Given the description of an element on the screen output the (x, y) to click on. 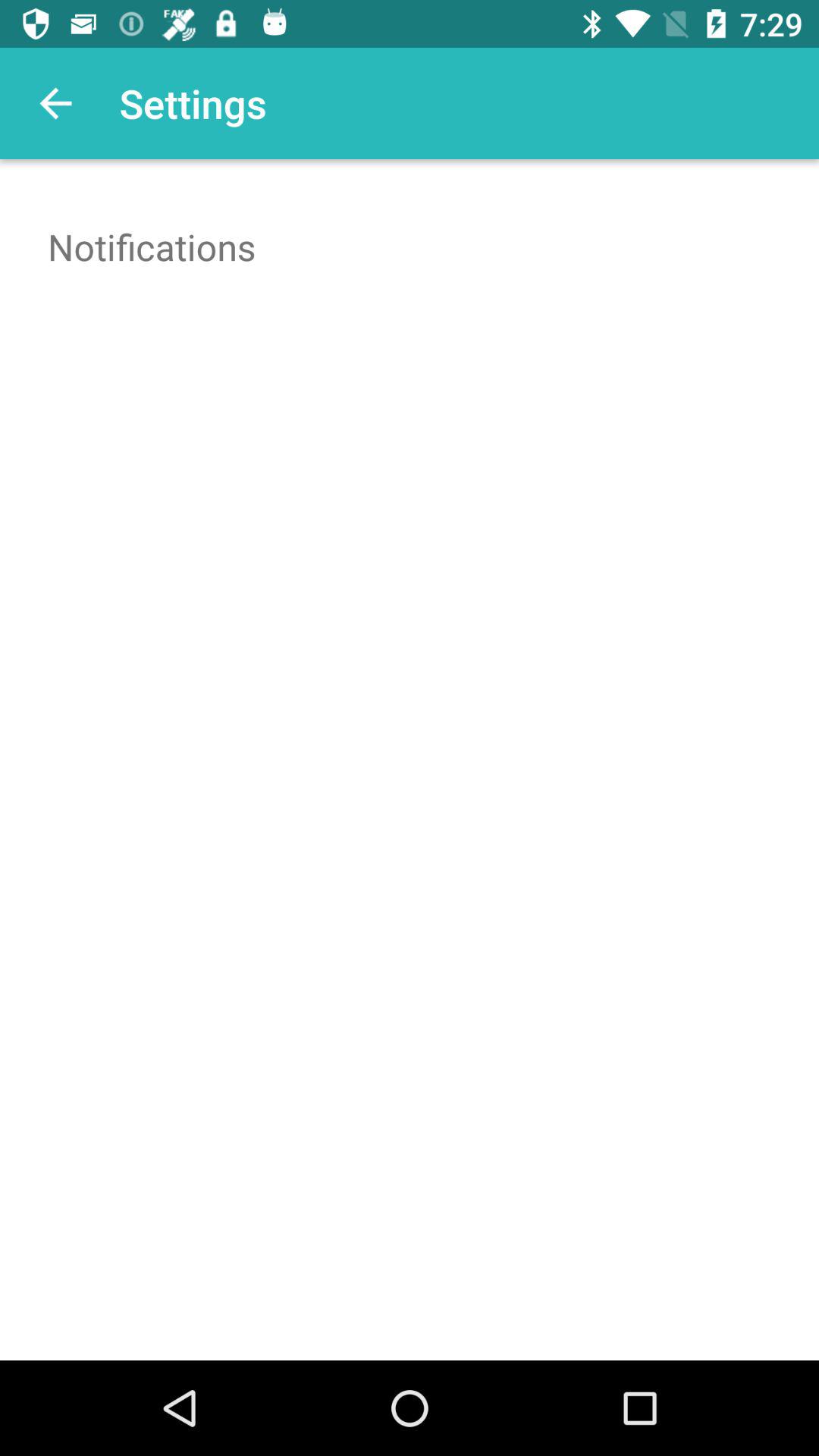
tap app next to settings icon (55, 103)
